Given the description of an element on the screen output the (x, y) to click on. 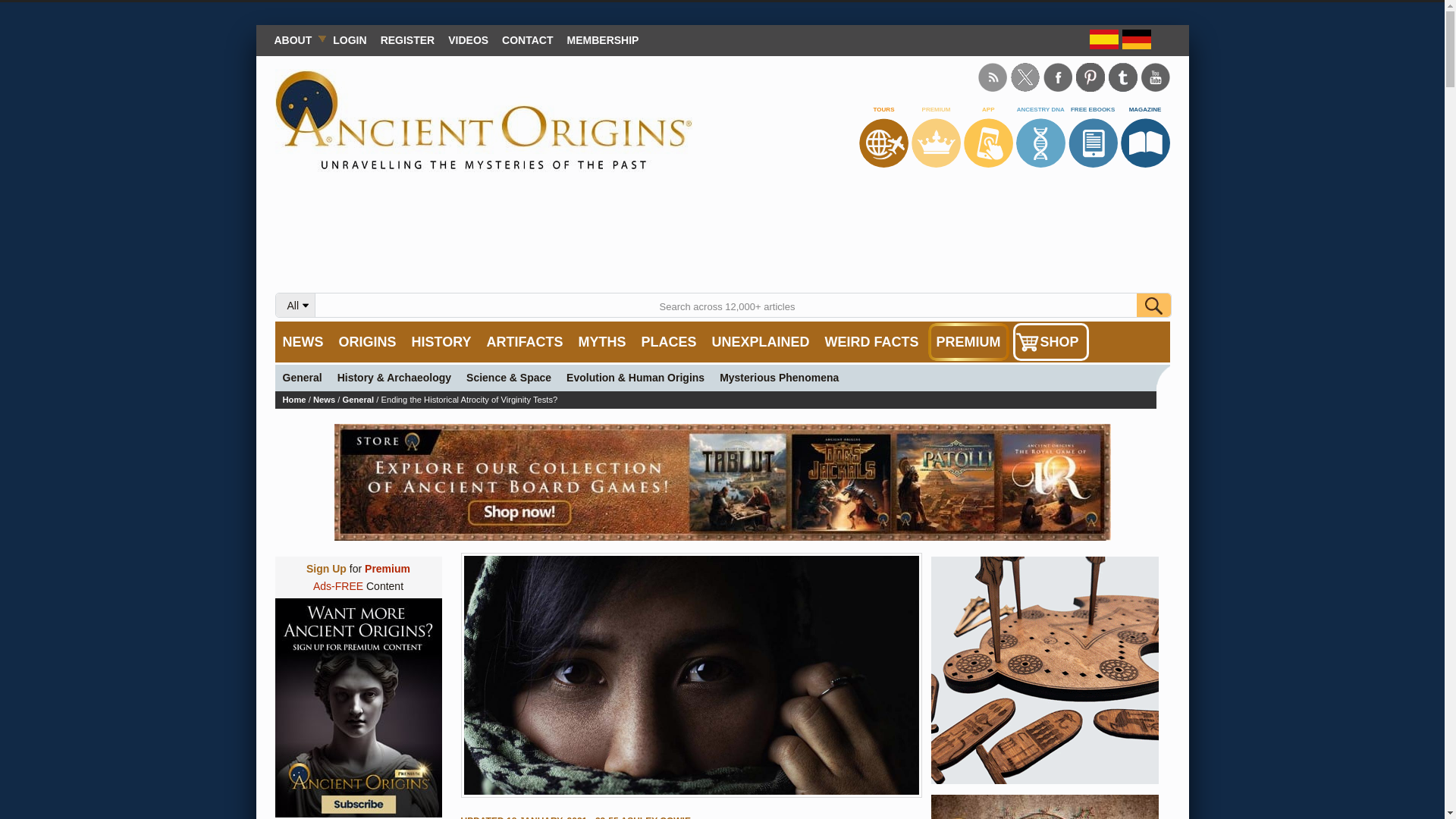
MEMBERSHIP (603, 40)
VIDEOS (468, 40)
Contact us (526, 40)
Login (349, 40)
Our Mission (296, 40)
Video Gallery (468, 40)
Find (1152, 304)
ABOUT (296, 40)
LOGIN (349, 40)
